Given the description of an element on the screen output the (x, y) to click on. 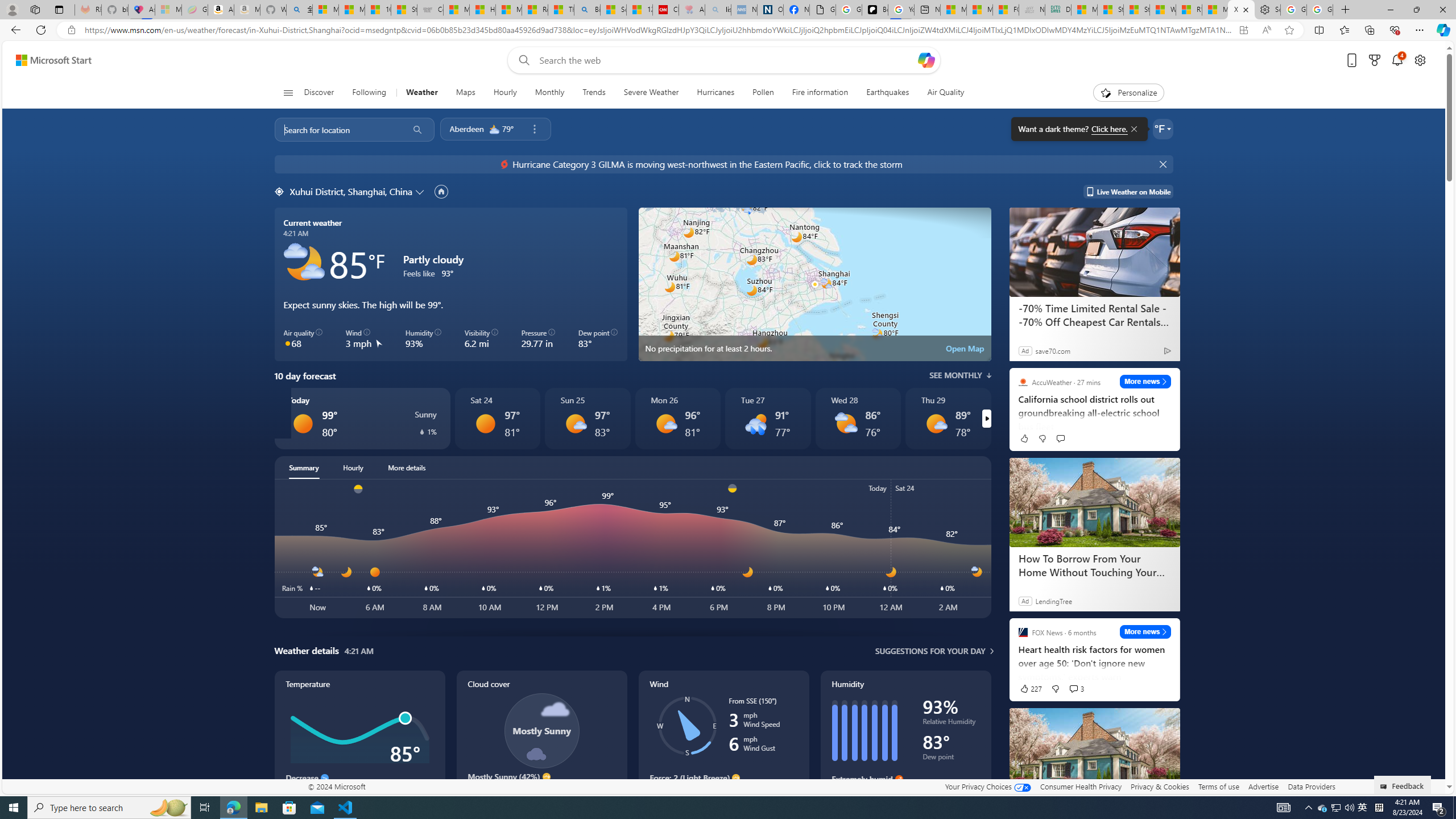
Severe Weather (650, 92)
Daily (37, 279)
Monthly (549, 92)
Temperature (359, 741)
Change location (420, 191)
More news (1144, 631)
Hurricanes (715, 92)
Suggestions for your day (930, 650)
Join us in planting real trees to help our planet! (23, 185)
